Given the description of an element on the screen output the (x, y) to click on. 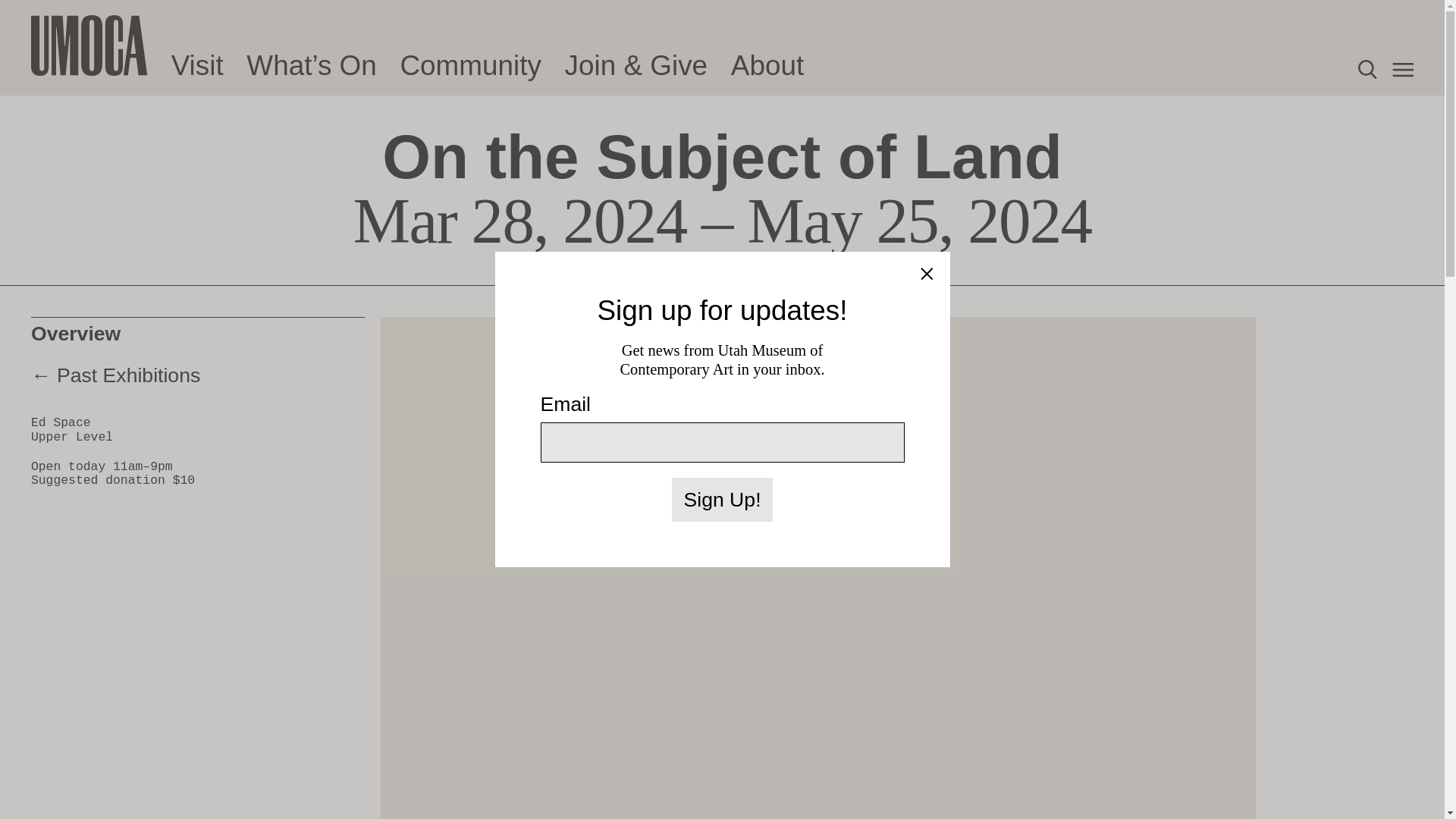
About (766, 66)
Overview (197, 332)
Sign Up! (722, 498)
Community (469, 66)
Artists In Residence (120, 2)
Contact (65, 54)
Overview (197, 332)
News (55, 34)
Artist Submissions (113, 14)
Visit (197, 66)
